Given the description of an element on the screen output the (x, y) to click on. 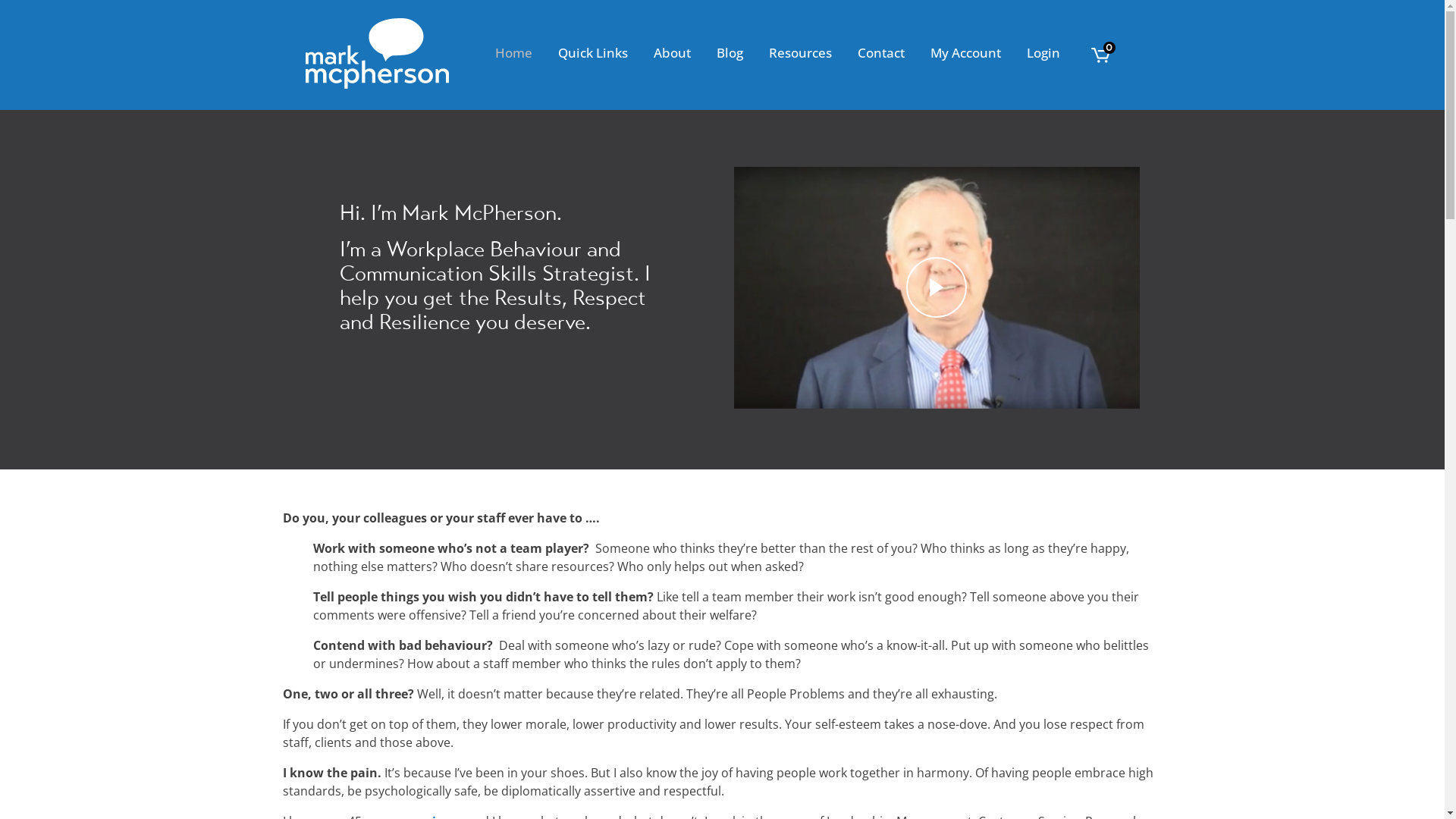
+61 403 914 835 Element type: text (388, 635)
Contact Element type: text (880, 53)
Home Element type: text (513, 53)
Connect with Mark on LinkedIn Element type: text (430, 705)
My Account Element type: text (965, 53)
Login Element type: text (1042, 53)
0 Element type: text (1099, 55)
Quick Links Element type: text (592, 53)
Submit Element type: text (632, 758)
mark@markmcpherson.com.au Element type: text (430, 670)
Resources Element type: text (799, 53)
Blog Element type: text (729, 53)
About Element type: text (671, 53)
